Given the description of an element on the screen output the (x, y) to click on. 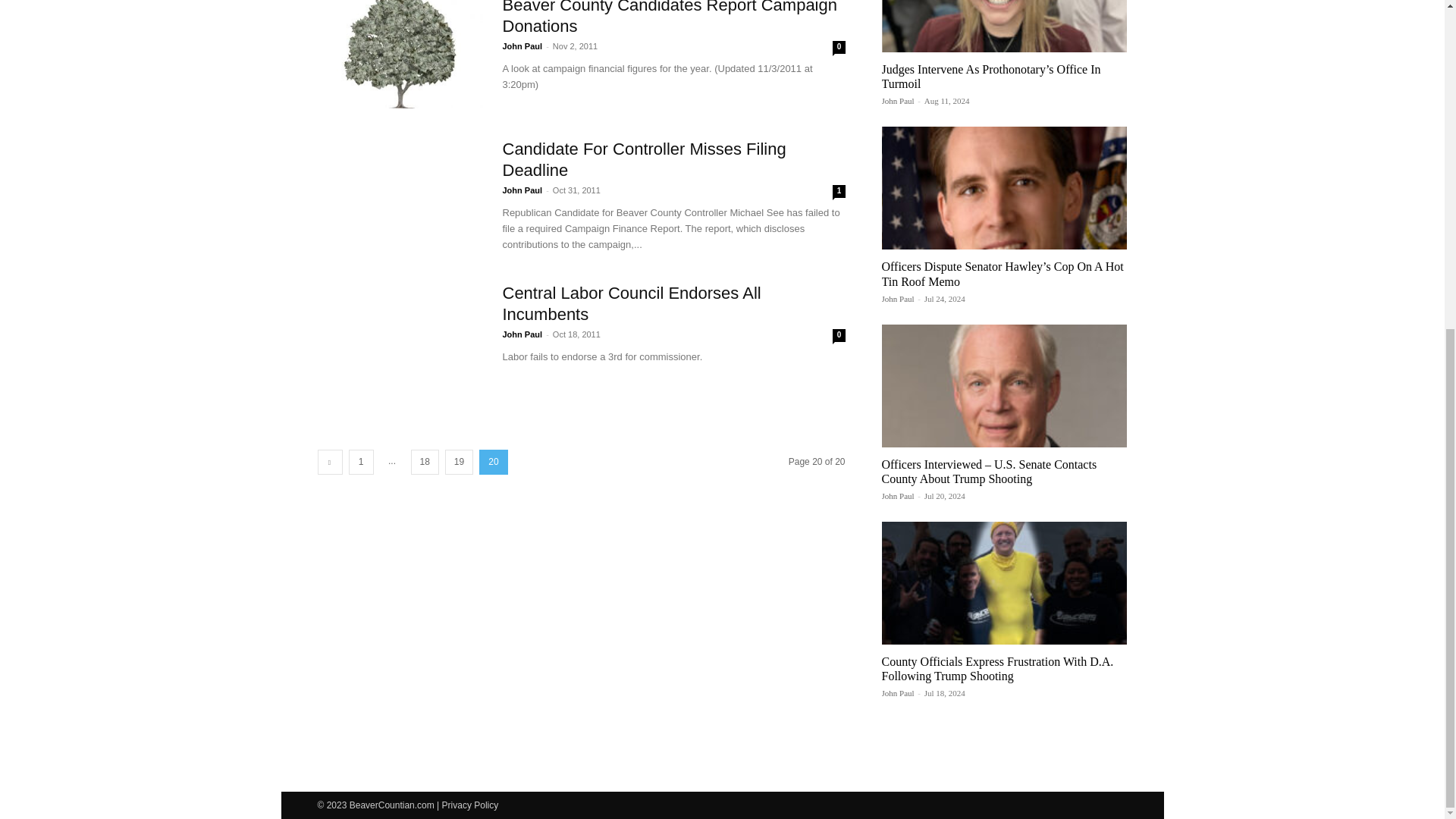
1 (361, 462)
19 (459, 462)
Beaver County Candidates Report Campaign Donations (668, 18)
Central Labor Council Endorses All Incumbents (631, 303)
Candidate For Controller Misses Filing Deadline (644, 159)
Candidate For Controller Misses Filing Deadline (644, 159)
John Paul (521, 334)
John Paul (521, 189)
0 (838, 335)
1 (361, 462)
